Given the description of an element on the screen output the (x, y) to click on. 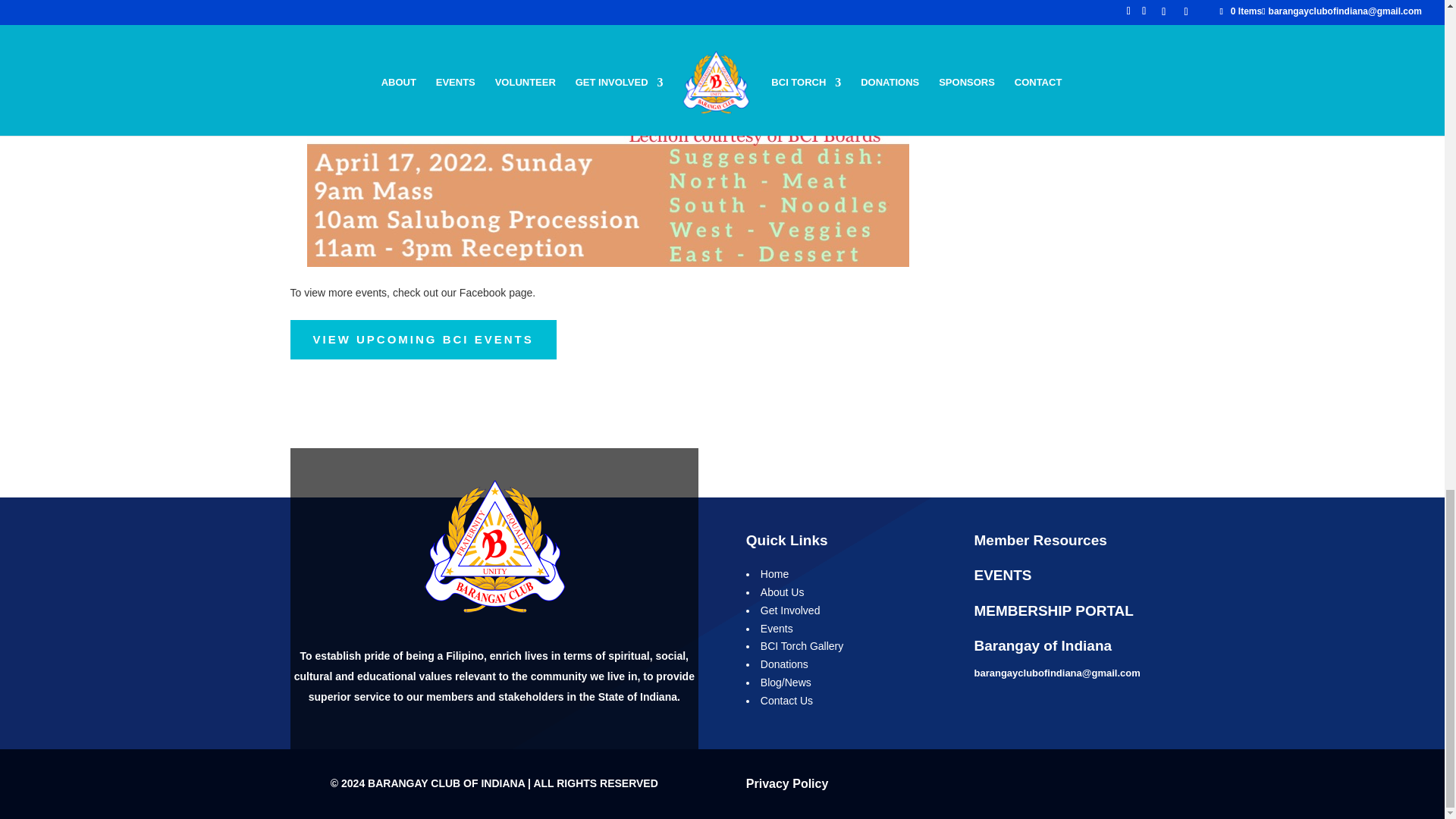
2022 Easter Sunday Event - Salubong (607, 266)
Home (774, 573)
Baragay-Club-Logo-200x198 (494, 547)
VIEW UPCOMING BCI EVENTS (422, 339)
